Given the description of an element on the screen output the (x, y) to click on. 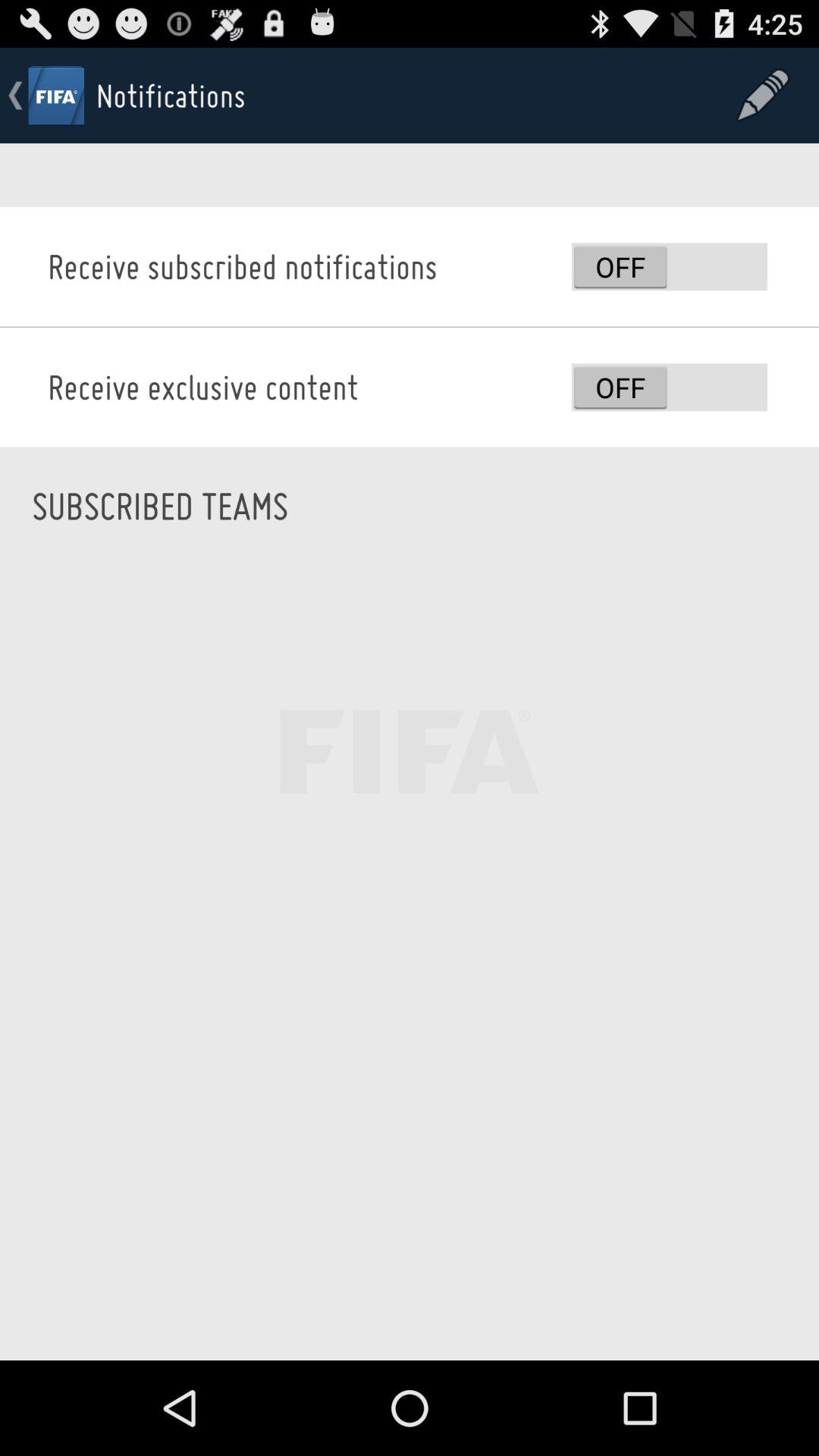
press icon to the right of the notifications icon (763, 95)
